Given the description of an element on the screen output the (x, y) to click on. 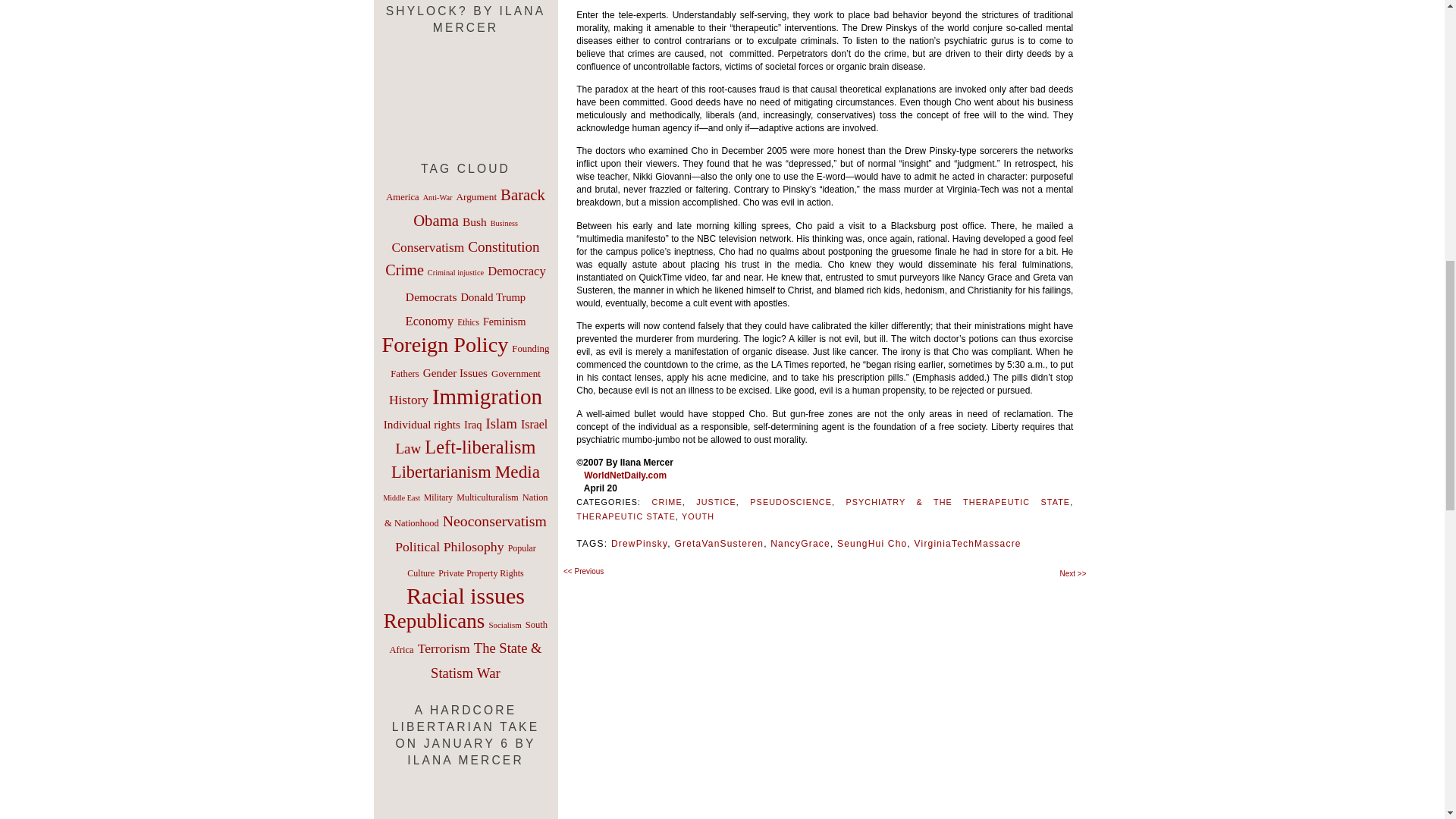
JUSTICE (715, 501)
CRIME (667, 501)
74 topics (475, 196)
SeungHui Cho (872, 543)
55 topics (504, 223)
87 topics (474, 221)
56 topics (437, 197)
109 topics (502, 246)
GretaVanSusteren (718, 543)
99 topics (427, 246)
119 topics (478, 207)
WorldNetDaily.com (624, 475)
YOUTH (697, 515)
DrewPinsky (638, 543)
56 topics (455, 272)
